Given the description of an element on the screen output the (x, y) to click on. 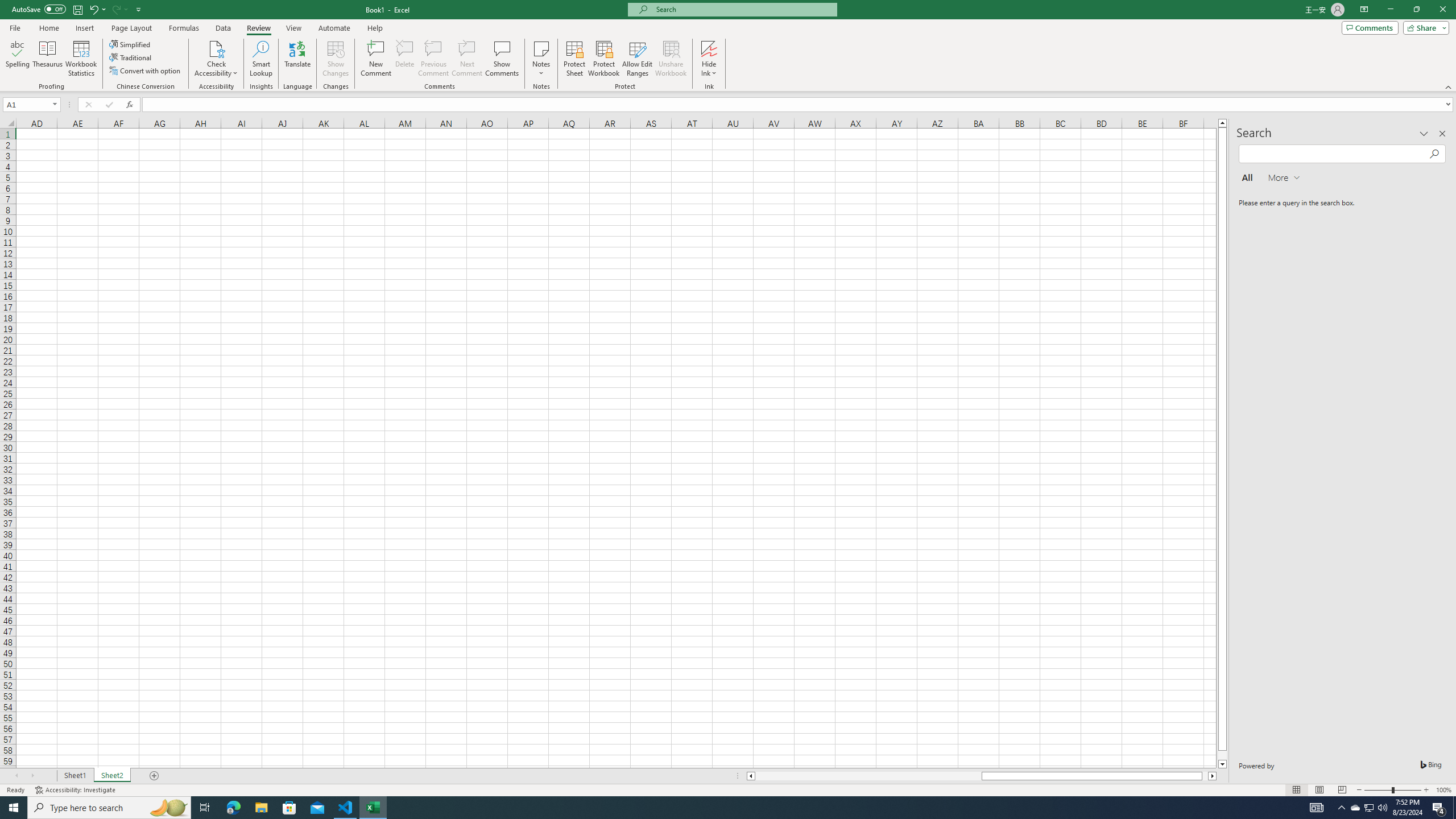
Simplified (130, 44)
Notes (541, 58)
Convert with option (145, 69)
Thesaurus... (47, 58)
Protect Sheet... (574, 58)
Smart Lookup (260, 58)
